Given the description of an element on the screen output the (x, y) to click on. 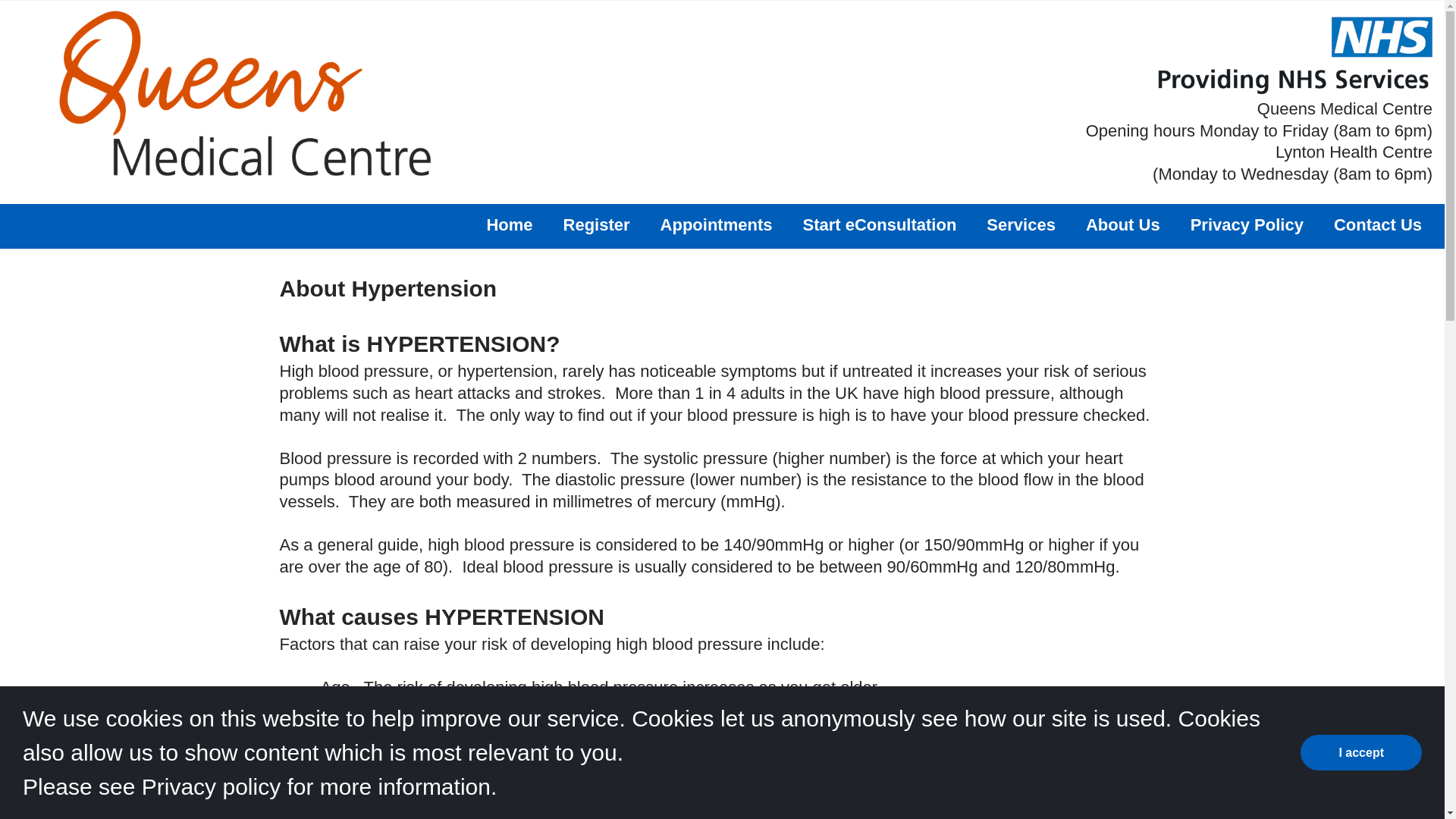
Providing NHS Service (1293, 55)
Start eConsultation (879, 224)
Home (509, 224)
Appointments (717, 224)
About Us (1123, 224)
Services (1021, 224)
Privacy Policy (1247, 224)
Contact Us (1377, 224)
Register (596, 224)
